Given the description of an element on the screen output the (x, y) to click on. 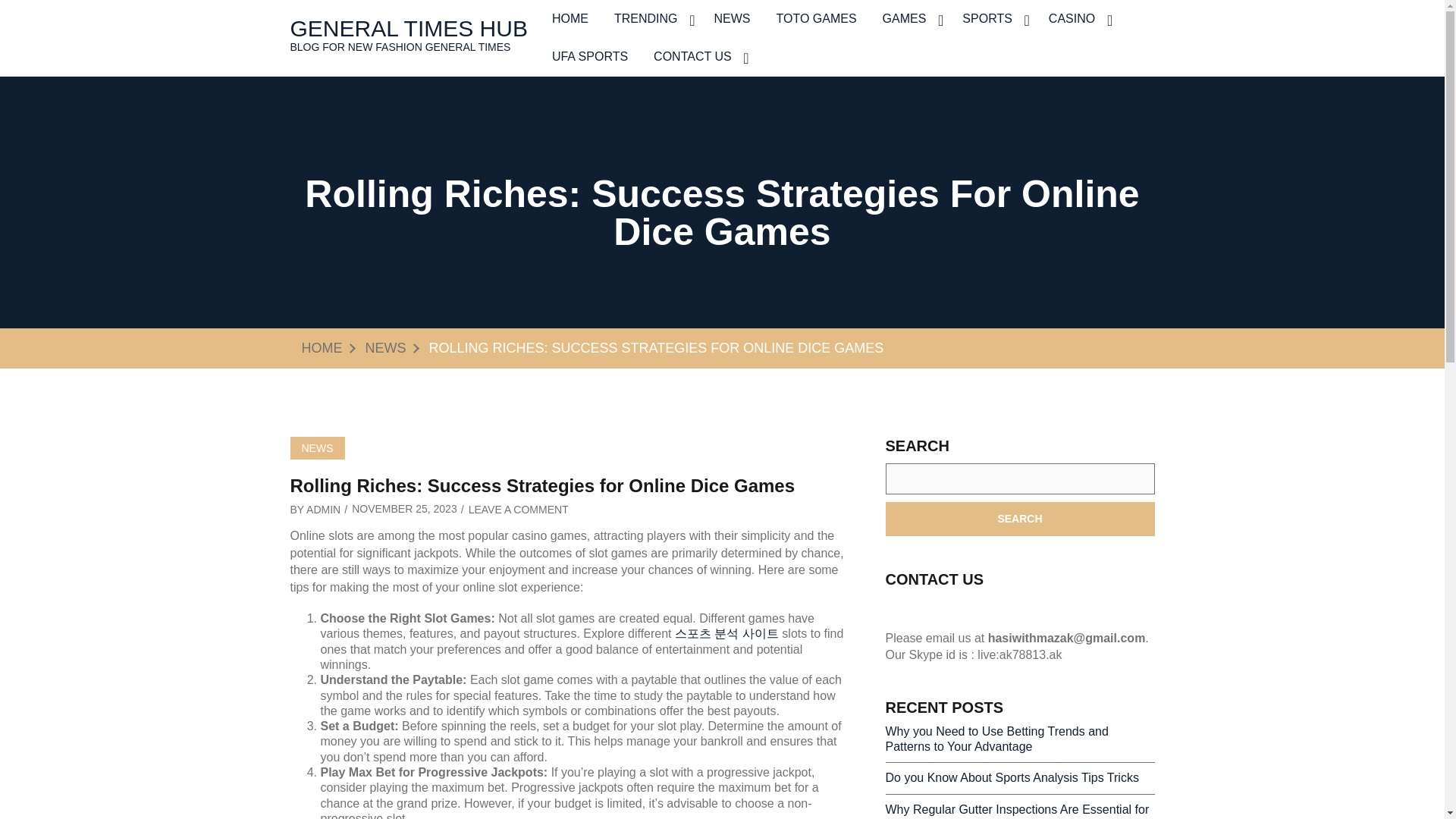
GAMES (909, 18)
GENERAL TIMES HUB (408, 28)
NEWS (316, 447)
CASINO (1076, 18)
NEWS (385, 347)
HOME (321, 347)
UFA SPORTS (589, 56)
ADMIN (322, 509)
NOVEMBER 25, 2023 (404, 508)
CONTACT US (697, 56)
TRENDING (651, 18)
TOTO GAMES (815, 18)
NEWS (731, 18)
SPORTS (992, 18)
